Given the description of an element on the screen output the (x, y) to click on. 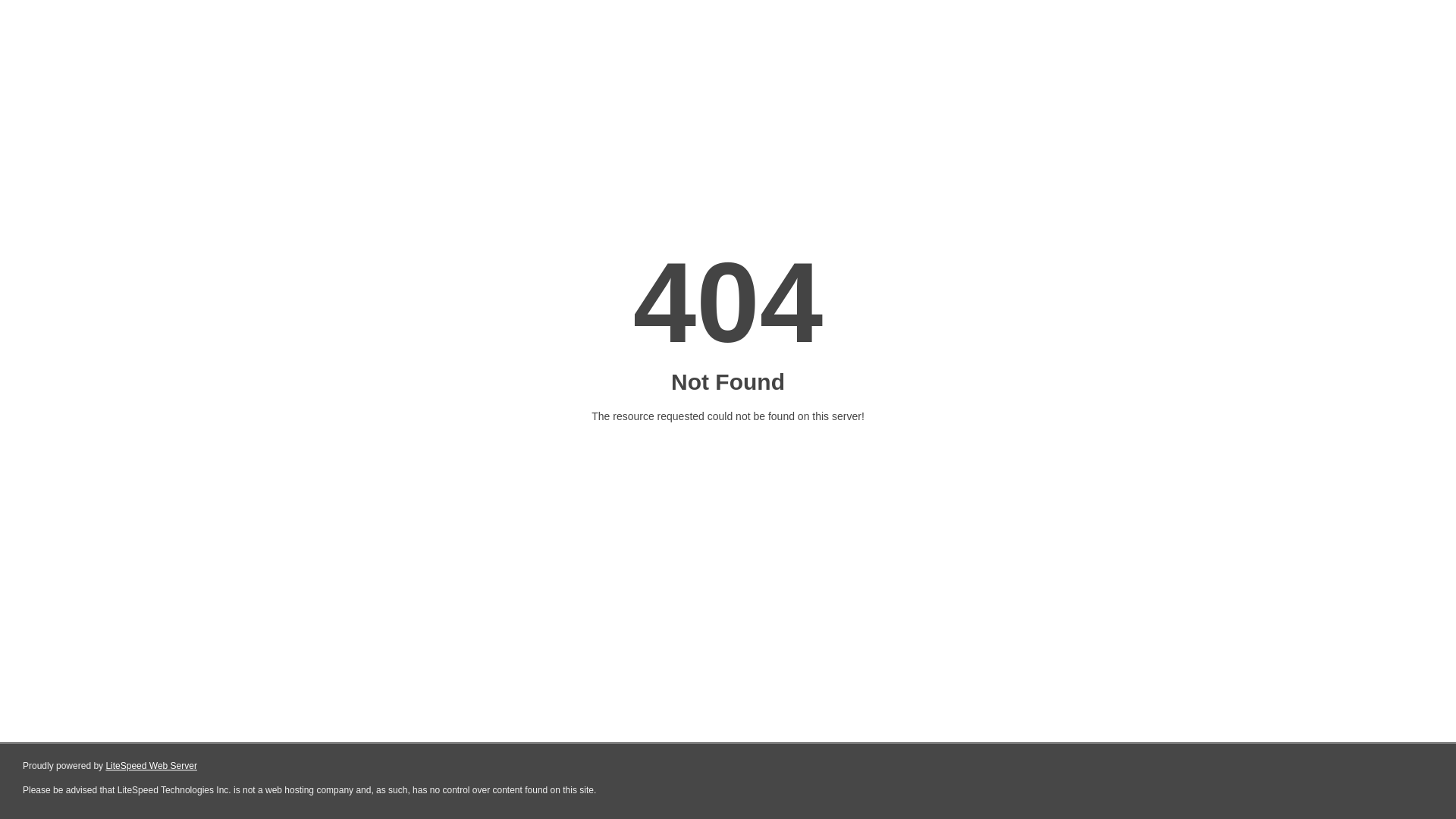
LiteSpeed Web Server Element type: text (151, 765)
